Given the description of an element on the screen output the (x, y) to click on. 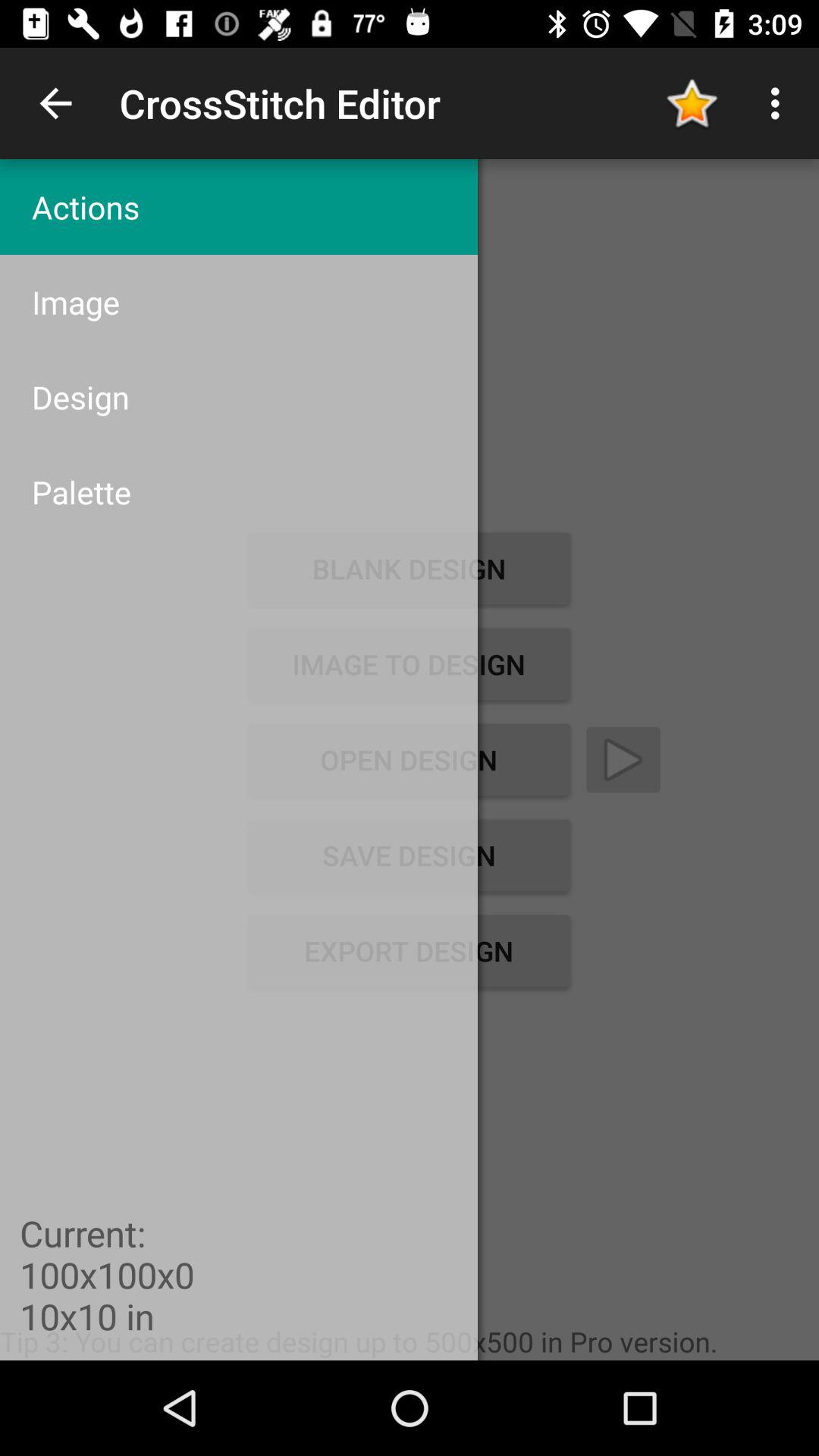
select icon next to actions icon (691, 103)
